Given the description of an element on the screen output the (x, y) to click on. 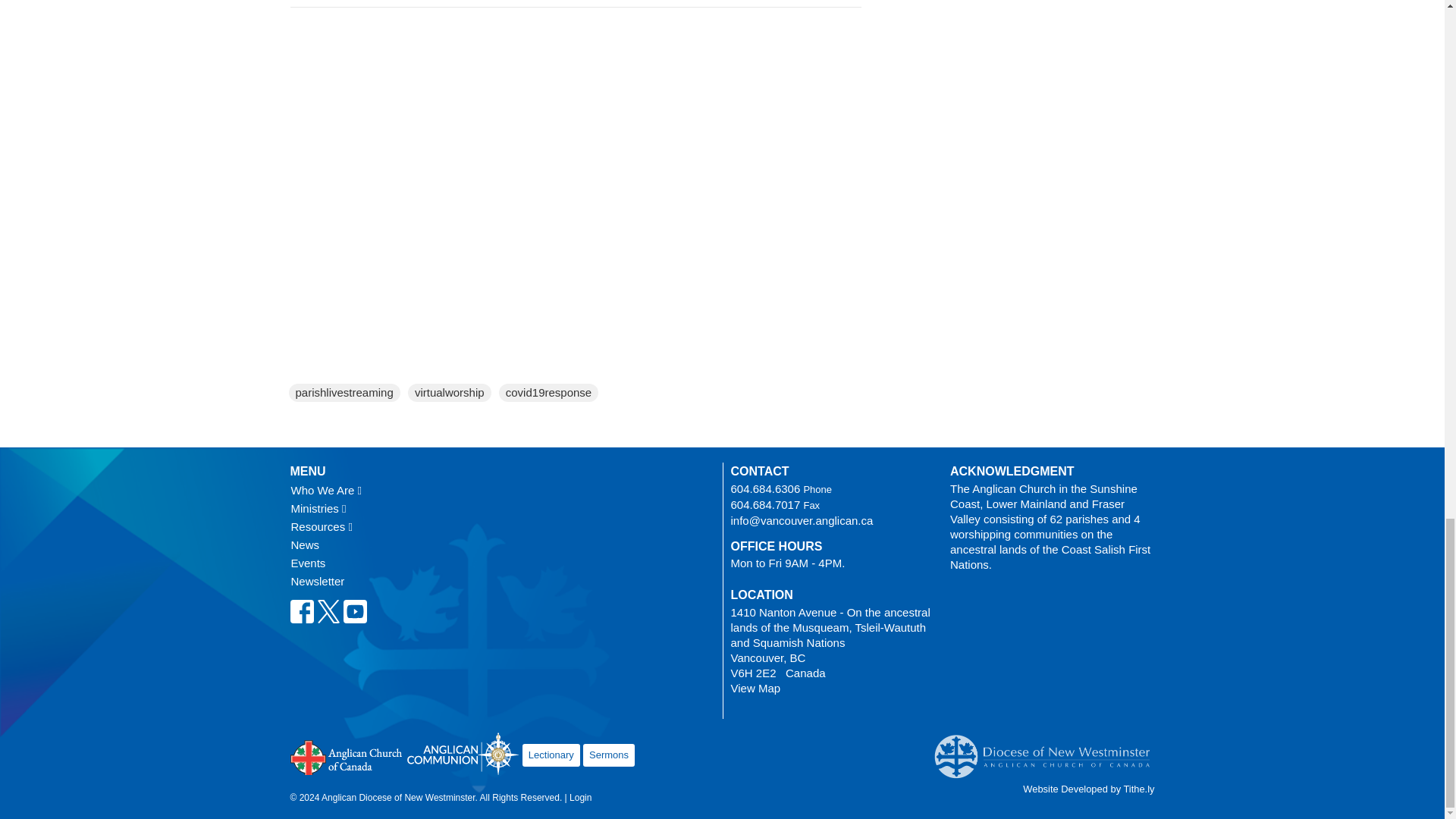
Twitter Icon (328, 611)
Youtube Icon (354, 611)
virtualworship (449, 392)
covid19response (548, 392)
parishlivestreaming (344, 392)
Facebook Icon (301, 611)
